Given the description of an element on the screen output the (x, y) to click on. 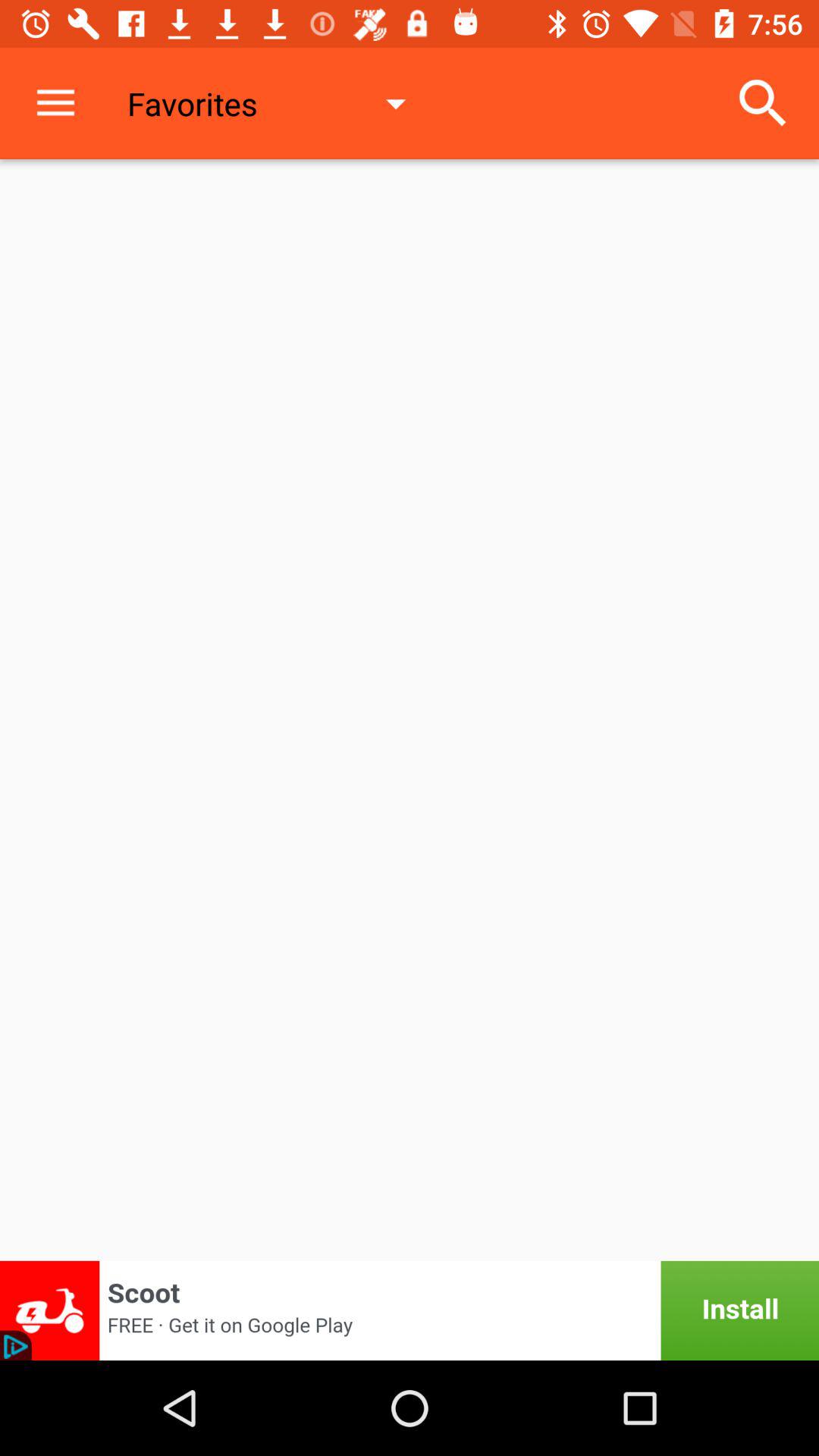
click the advertisement (409, 1310)
